Given the description of an element on the screen output the (x, y) to click on. 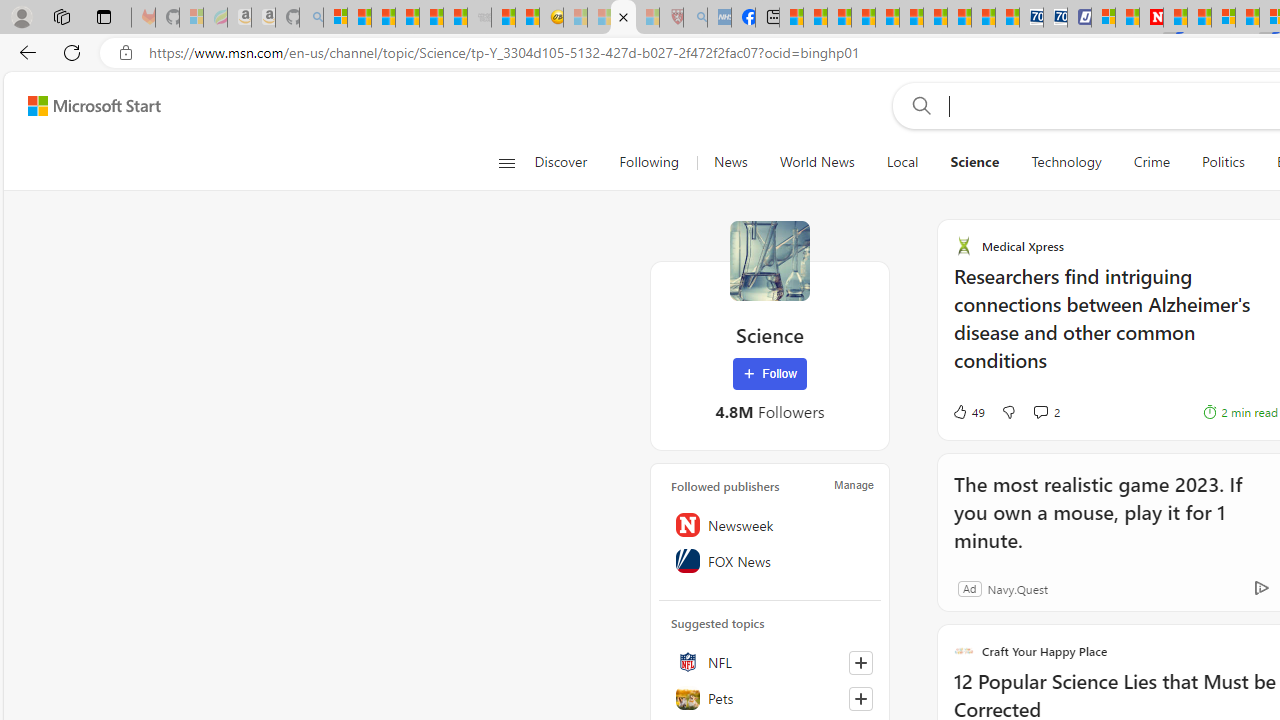
Cheap Car Rentals - Save70.com (1031, 17)
Latest Politics News & Archive | Newsweek.com (1151, 17)
The Weather Channel - MSN (383, 17)
Climate Damage Becomes Too Severe To Reverse (863, 17)
Combat Siege - Sleeping (479, 17)
